Given the description of an element on the screen output the (x, y) to click on. 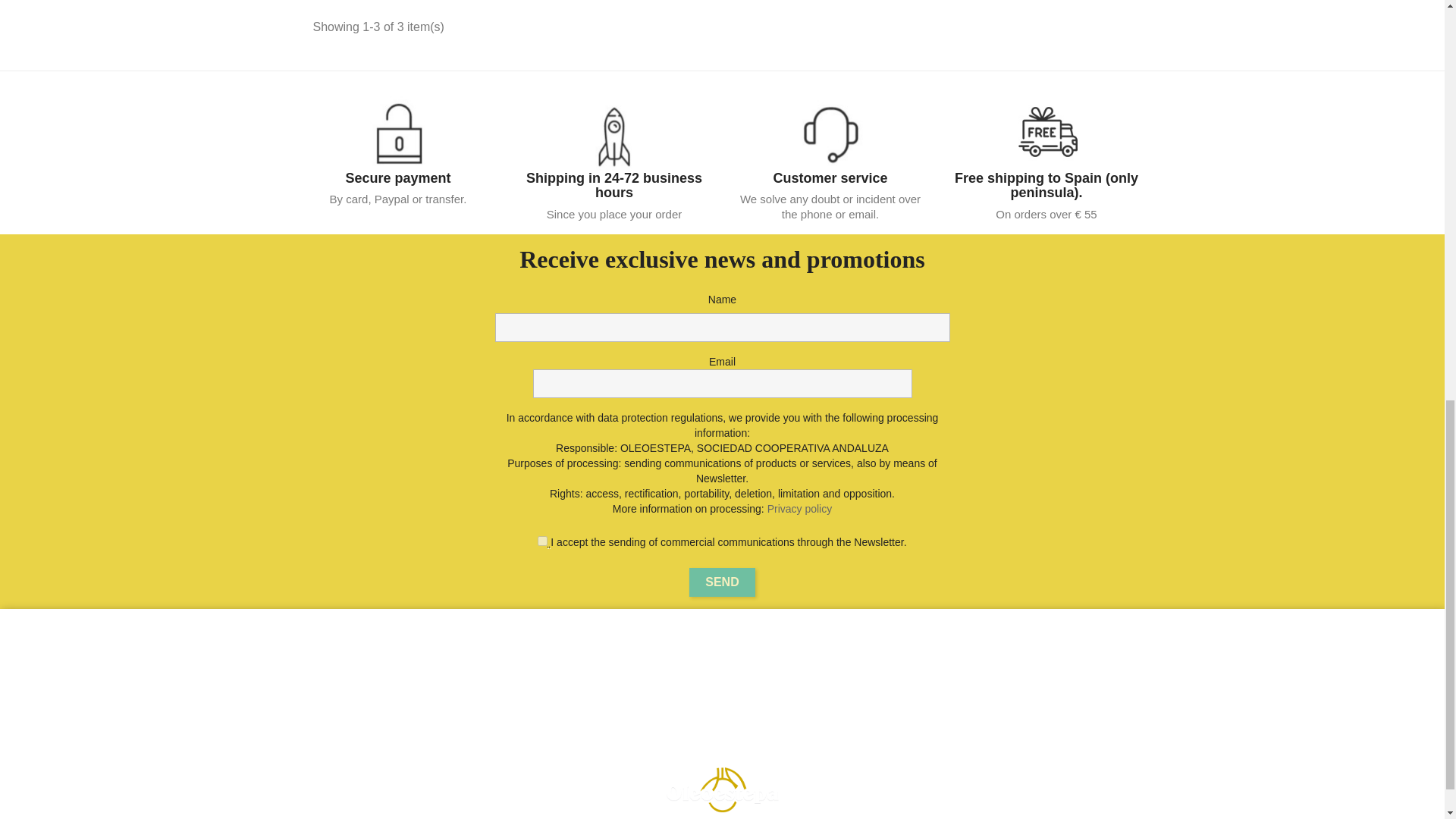
New products (549, 671)
Our special products (543, 652)
Send (721, 582)
Best sales (541, 689)
1 (542, 541)
